Given the description of an element on the screen output the (x, y) to click on. 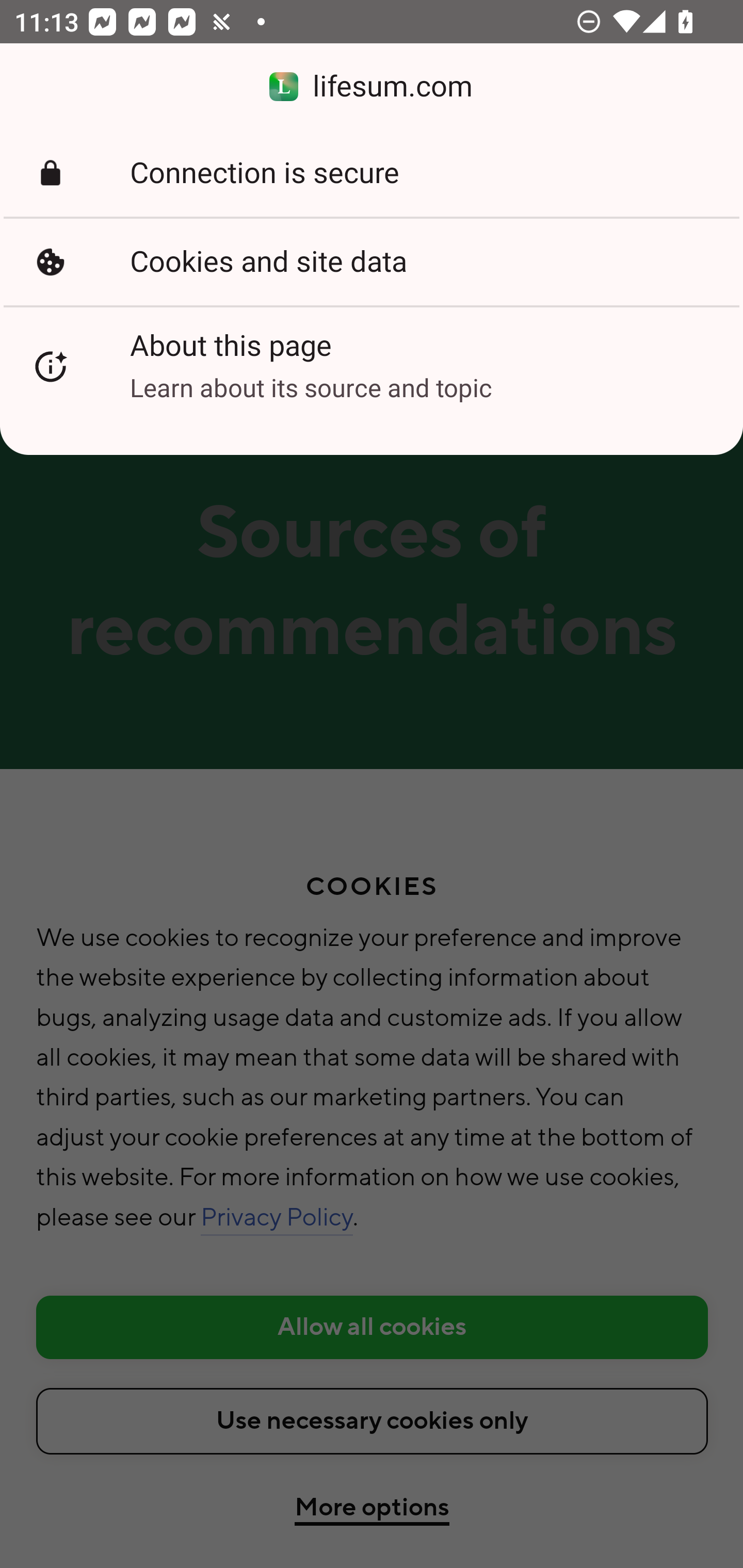
lifesum.com (371, 86)
Connection is secure (371, 173)
Cookies and site data (371, 261)
About this page Learn about its source and topic (371, 366)
